Given the description of an element on the screen output the (x, y) to click on. 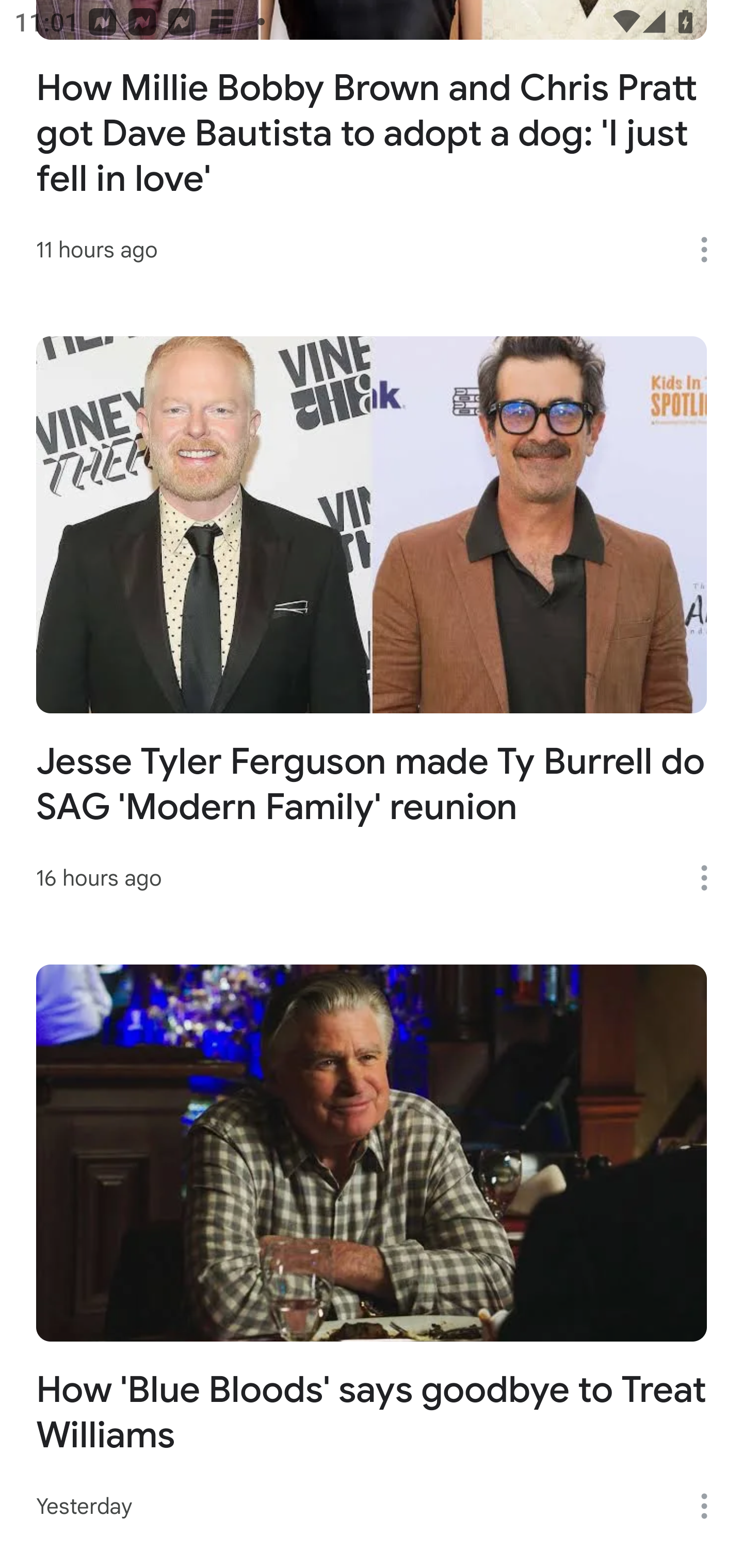
More options (711, 249)
More options (711, 878)
More options (711, 1505)
